Given the description of an element on the screen output the (x, y) to click on. 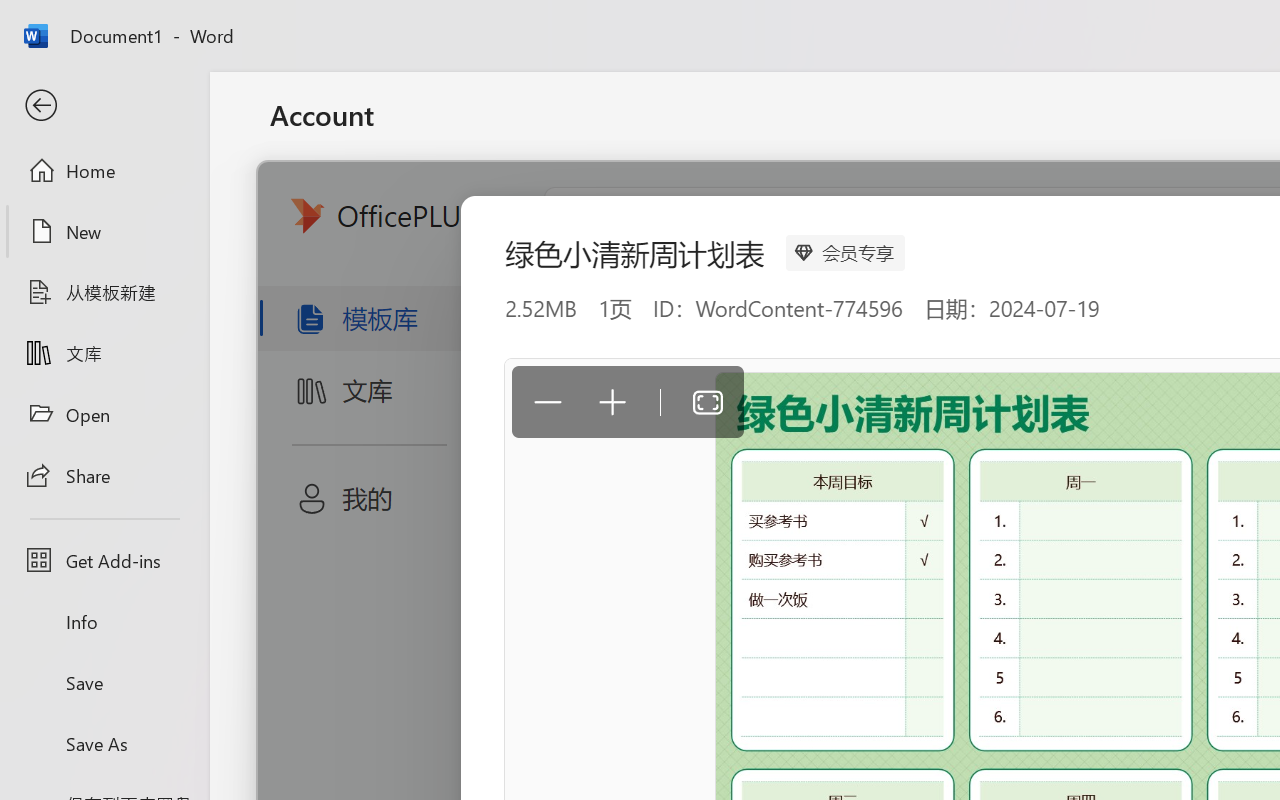
Update Options (1025, 603)
Office Theme (554, 303)
Get Add-ins (104, 560)
Info (104, 621)
Word (963, 444)
New (104, 231)
Save As (104, 743)
